Given the description of an element on the screen output the (x, y) to click on. 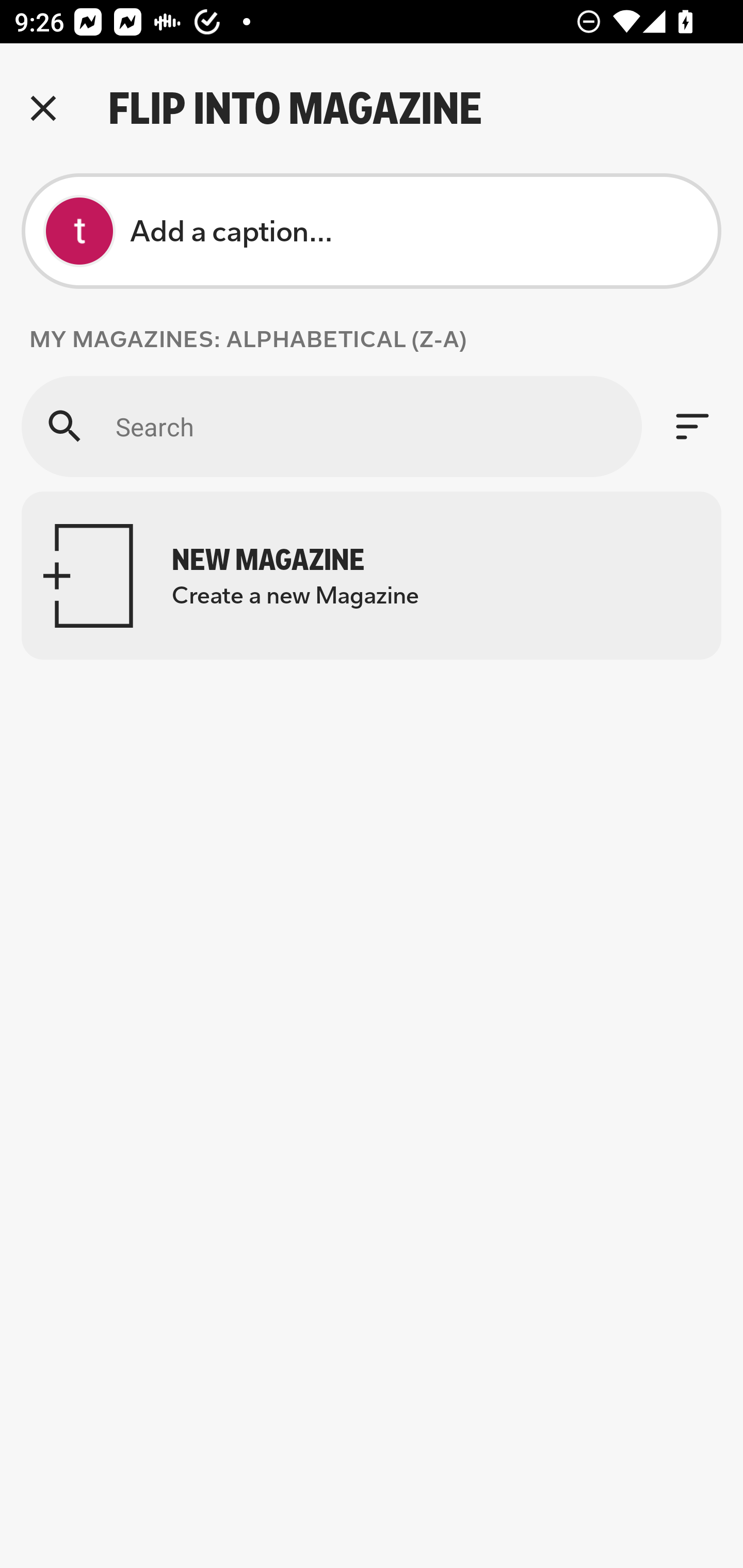
test appium Add a caption… (371, 231)
Search (331, 426)
NEW MAGAZINE Create a new Magazine (371, 575)
